Given the description of an element on the screen output the (x, y) to click on. 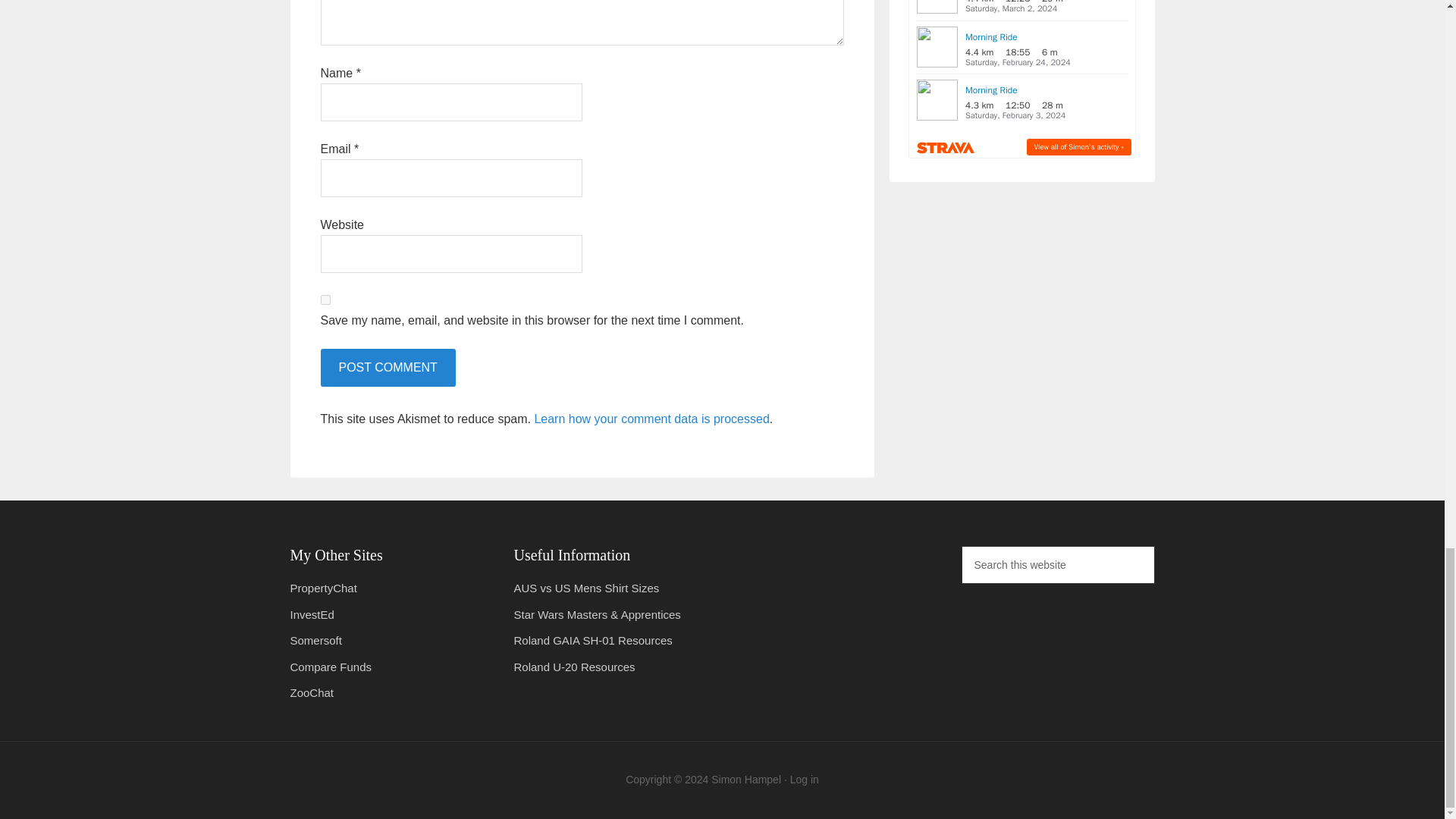
Post Comment (387, 367)
Compare Managed Funds and ETFs (330, 666)
Investor Education (311, 614)
yes (325, 299)
Learn how your comment data is processed (651, 418)
Analysis of Tweets by Australian MPs (322, 587)
Post Comment (387, 367)
